Given the description of an element on the screen output the (x, y) to click on. 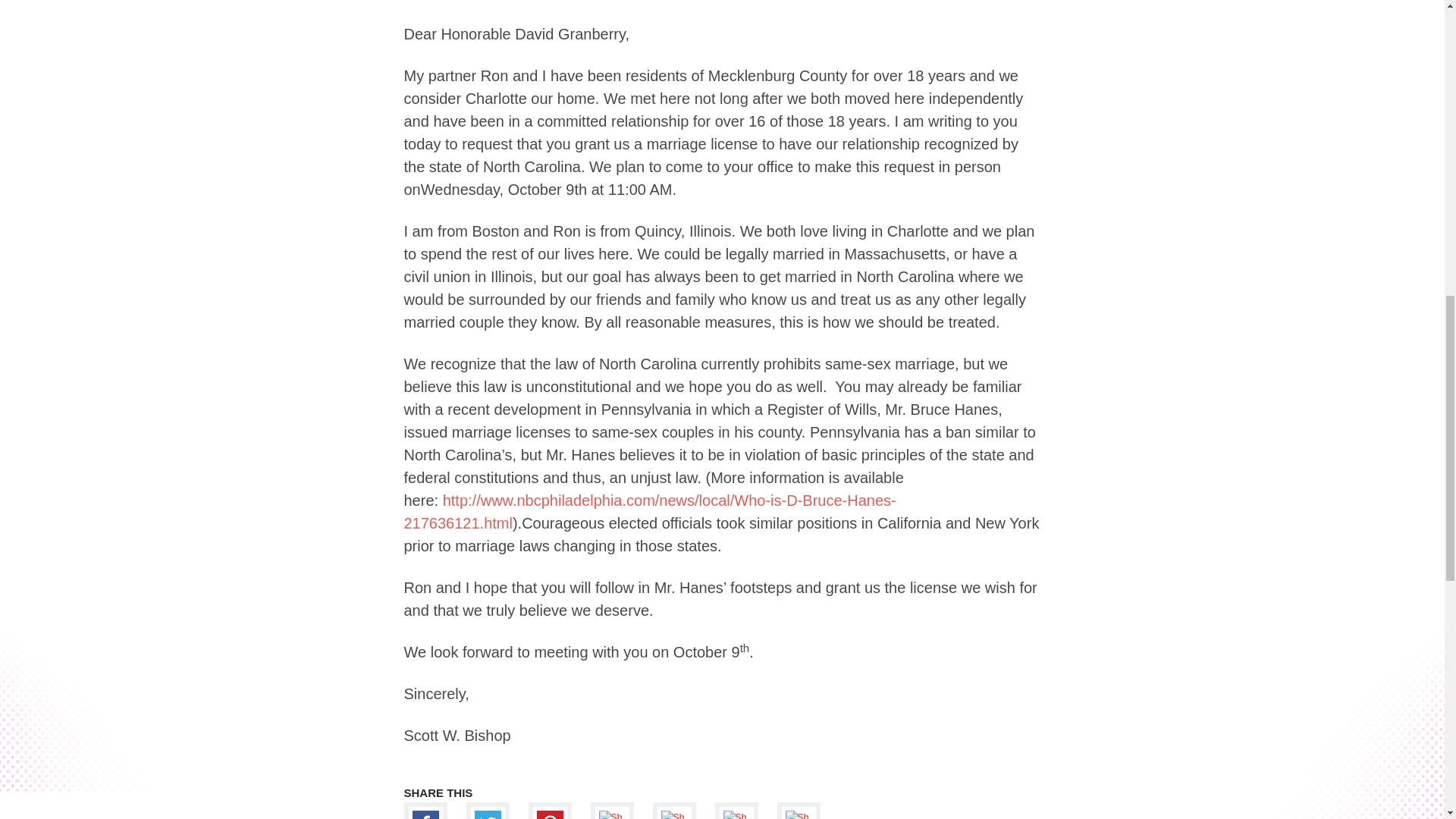
email (797, 810)
pinterest (548, 810)
facebook (424, 810)
linkedin (673, 810)
google (611, 810)
twitter (486, 810)
reddit (735, 810)
